Given the description of an element on the screen output the (x, y) to click on. 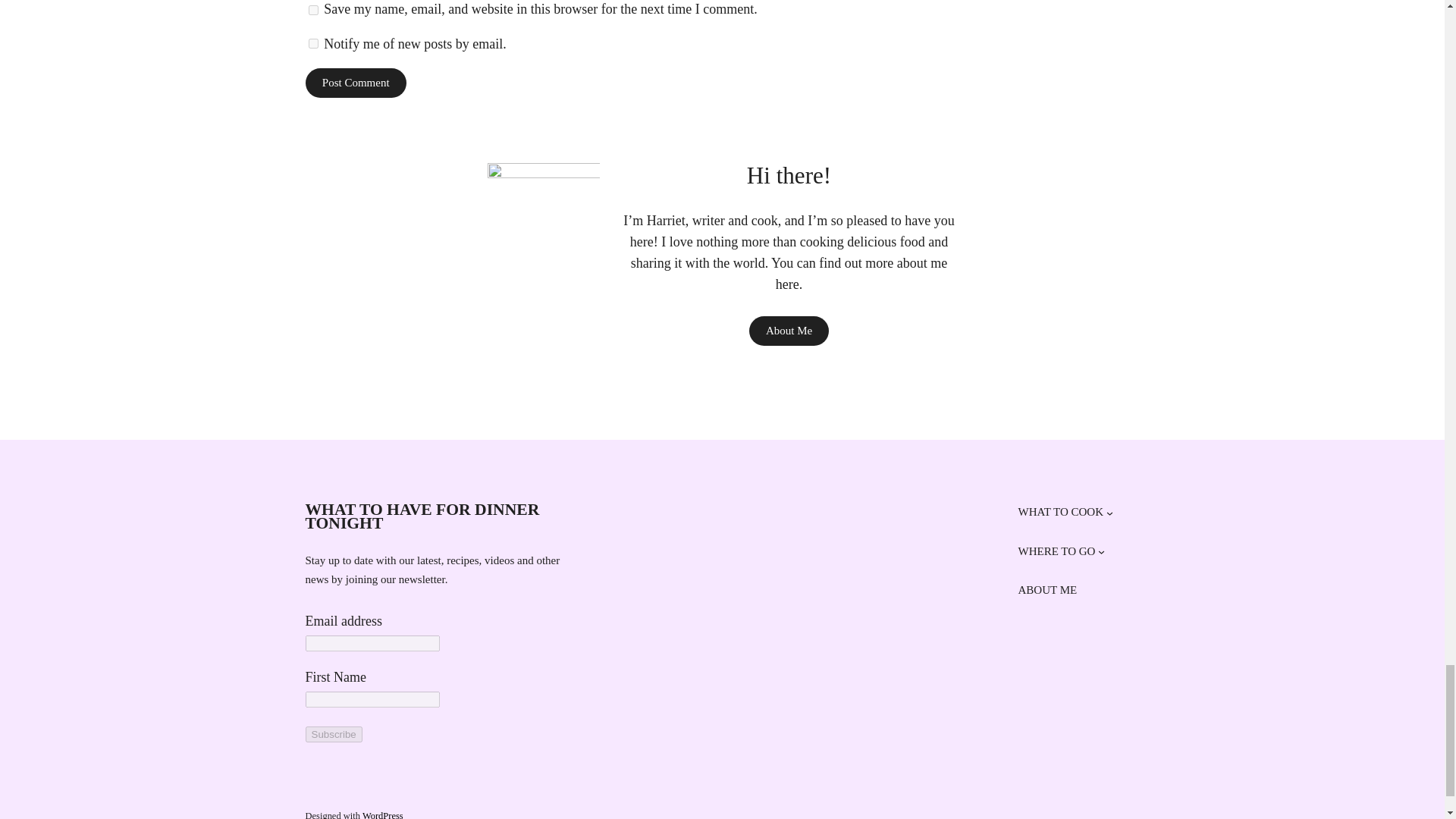
Post Comment (355, 82)
Subscribe (332, 734)
subscribe (313, 43)
